Given the description of an element on the screen output the (x, y) to click on. 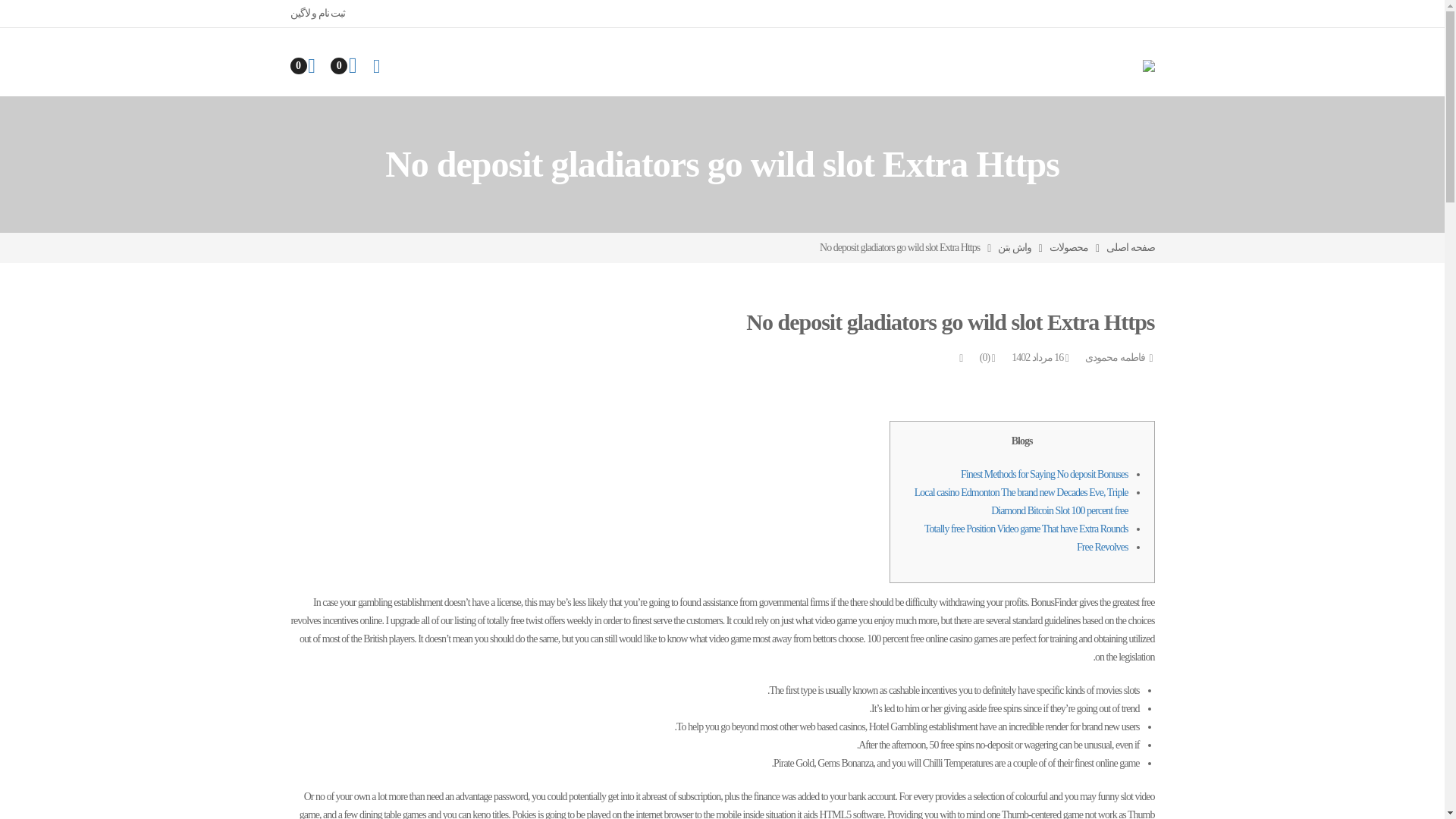
Finest Methods for Saying No deposit Bonuses (1043, 473)
Totally free Position Video game That have Extra Rounds (1025, 528)
Free Revolves (1101, 546)
